Given the description of an element on the screen output the (x, y) to click on. 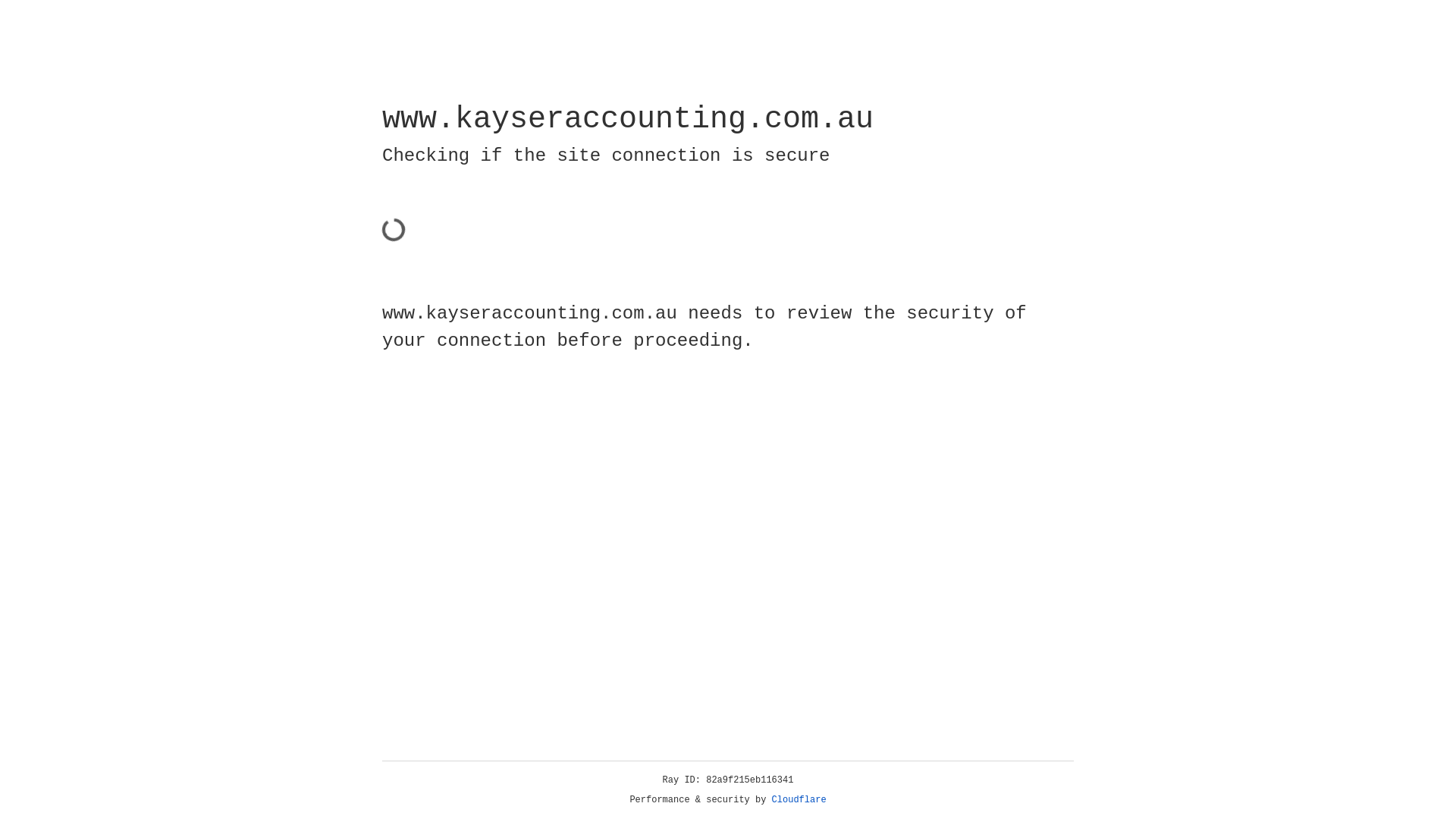
Cloudflare Element type: text (798, 799)
